Given the description of an element on the screen output the (x, y) to click on. 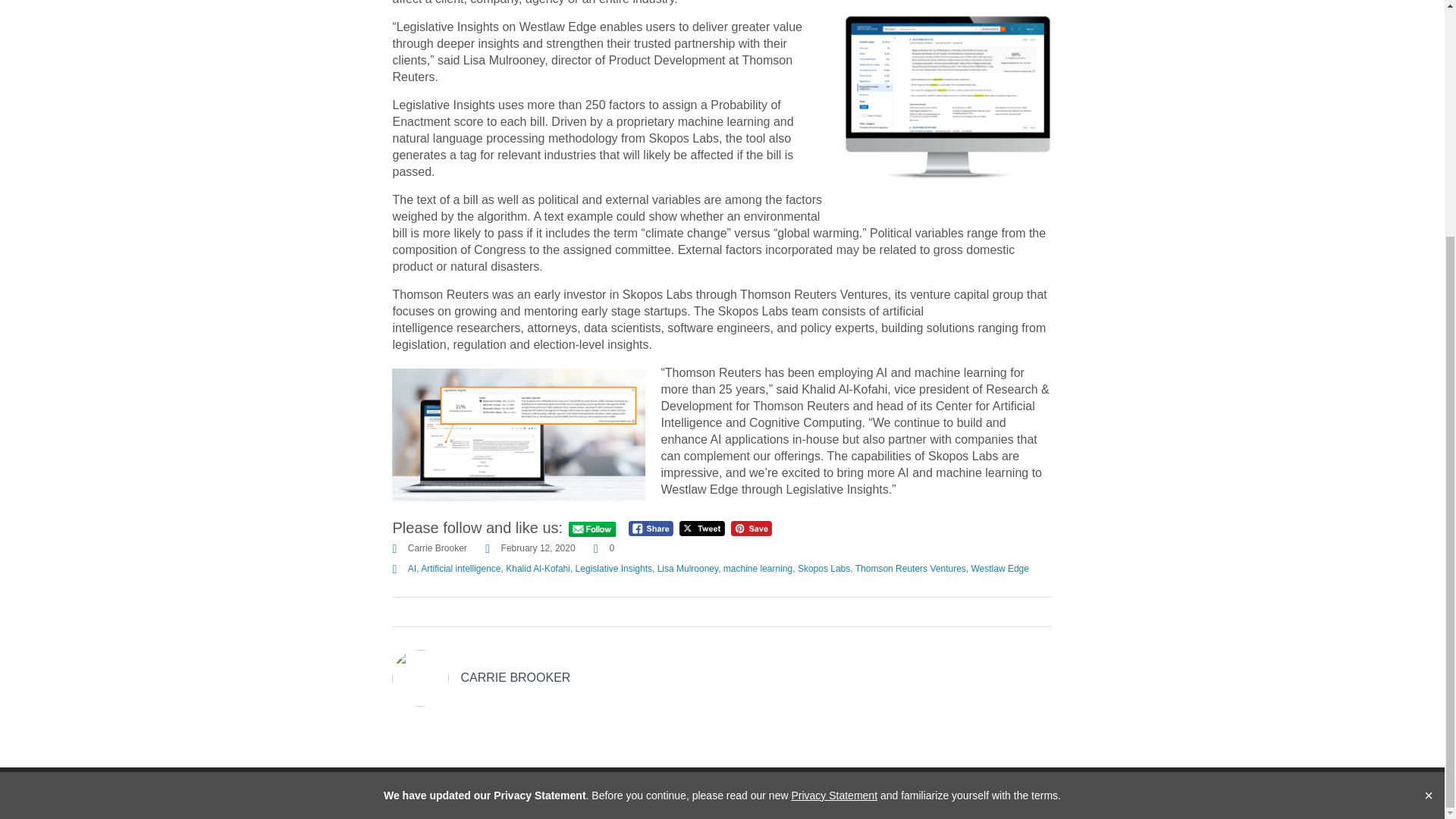
Facebook Share (650, 528)
Privacy statement (1012, 792)
Westlaw Edge (999, 568)
Pin Share (750, 528)
Terms of use (919, 792)
Artificial intelligence (460, 568)
Tweet (702, 528)
Copyright (1098, 792)
machine learning (757, 568)
Skopos Labs (823, 568)
Khalid Al-Kofahi (537, 568)
Thomson Reuters (402, 792)
Thomson Reuters Ventures (911, 568)
Lisa Mulrooney (687, 568)
Legislative Insights (613, 568)
